Given the description of an element on the screen output the (x, y) to click on. 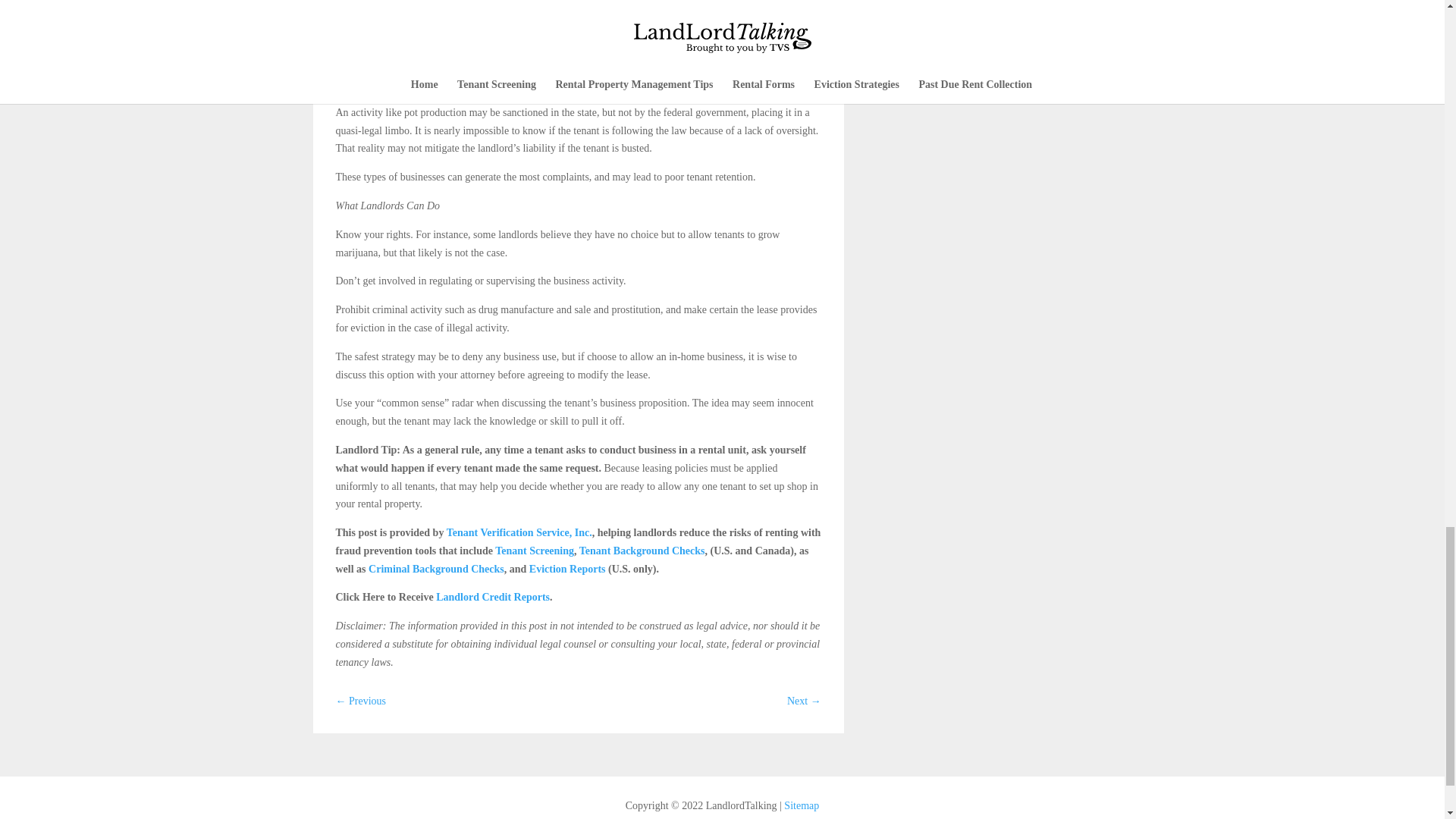
Eviction Reports (565, 568)
Sitemap (801, 805)
Tenant Verification Service, Inc. (517, 532)
Criminal Background Checks (434, 568)
Sitemap (801, 805)
Tenant Background Checks (640, 550)
Landlord Credit Reports (491, 596)
Tenant Screening (533, 550)
